Given the description of an element on the screen output the (x, y) to click on. 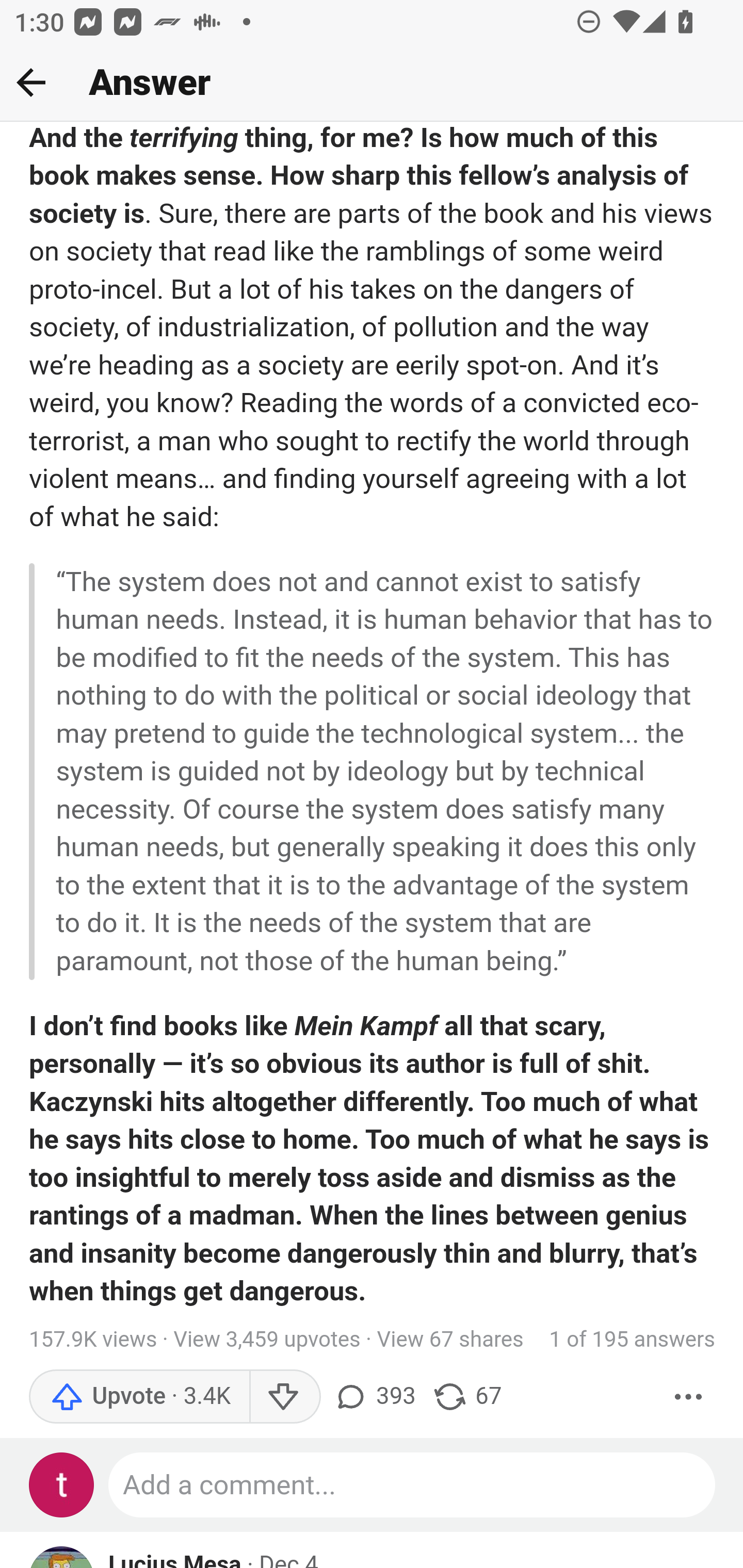
Back (30, 82)
View 3,459 upvotes (267, 1339)
View 67 shares (449, 1339)
1 of 195 answers (632, 1339)
Profile photo for Test Appium (61, 1485)
Add a comment... (412, 1485)
